Given the description of an element on the screen output the (x, y) to click on. 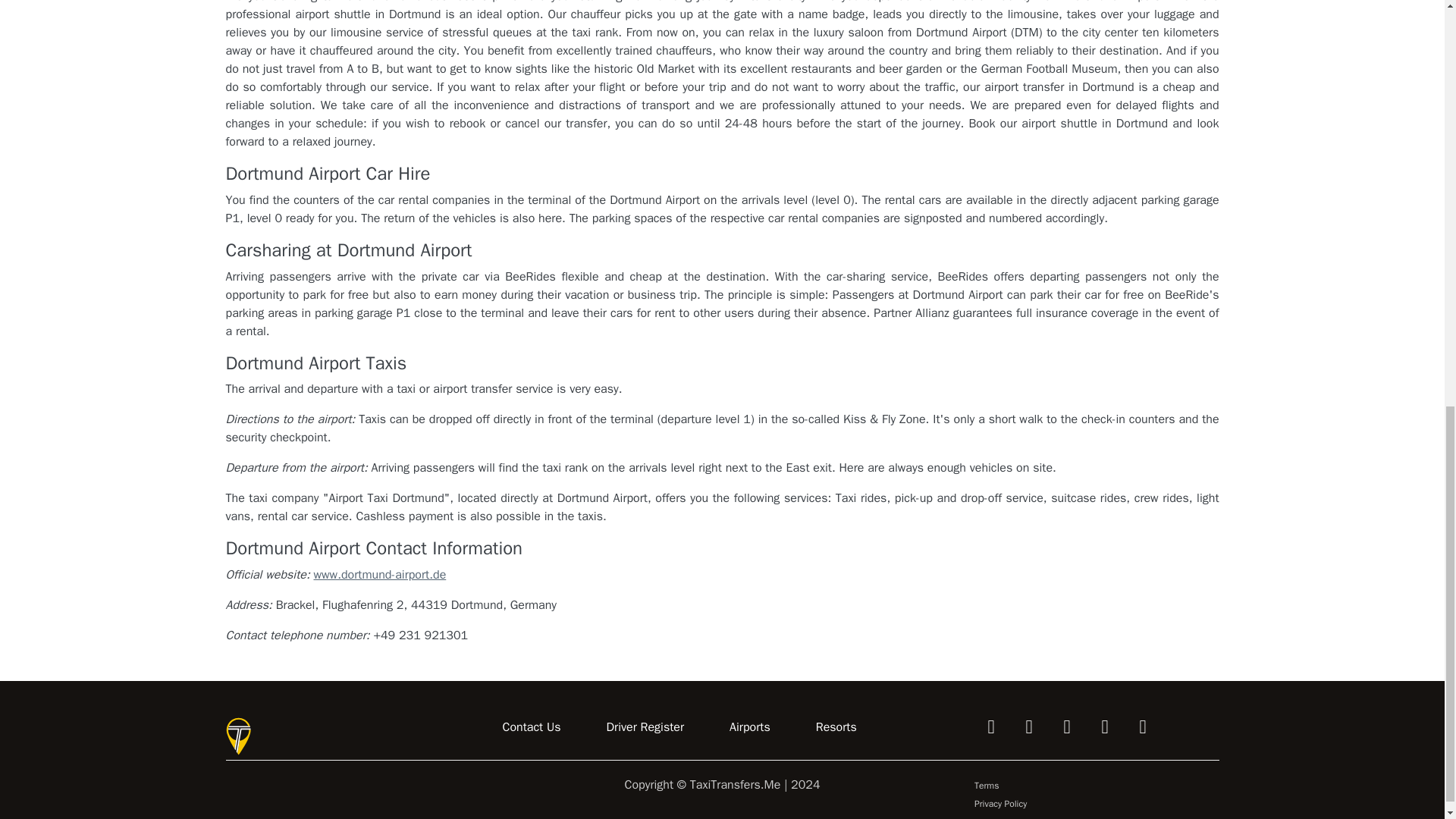
www.dortmund-airport.de (379, 574)
Privacy Policy (1000, 803)
Airports (749, 727)
Driver Register (645, 727)
Contact Us (531, 727)
Terms (986, 785)
Resorts (836, 727)
